Given the description of an element on the screen output the (x, y) to click on. 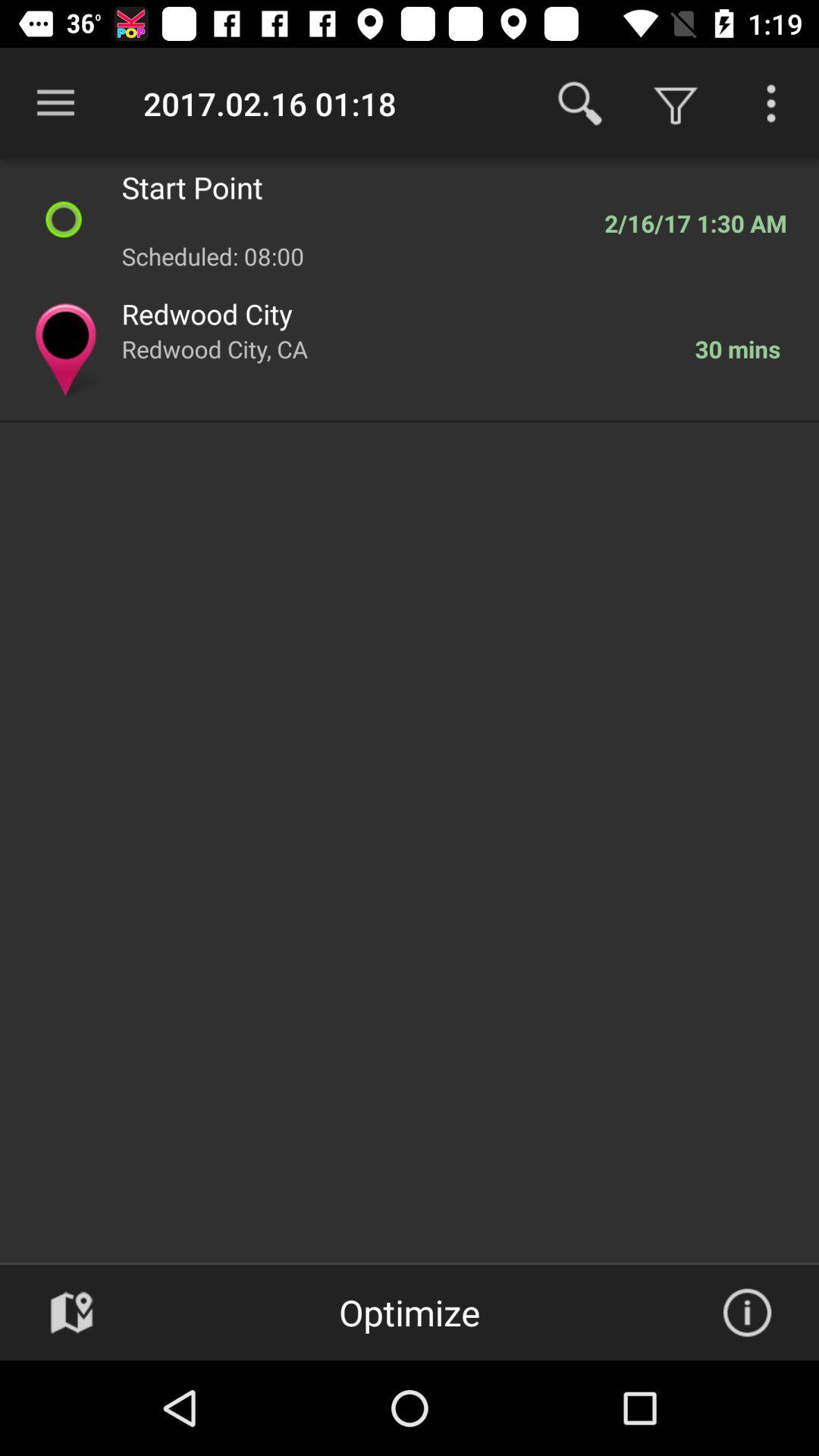
option (771, 103)
